Given the description of an element on the screen output the (x, y) to click on. 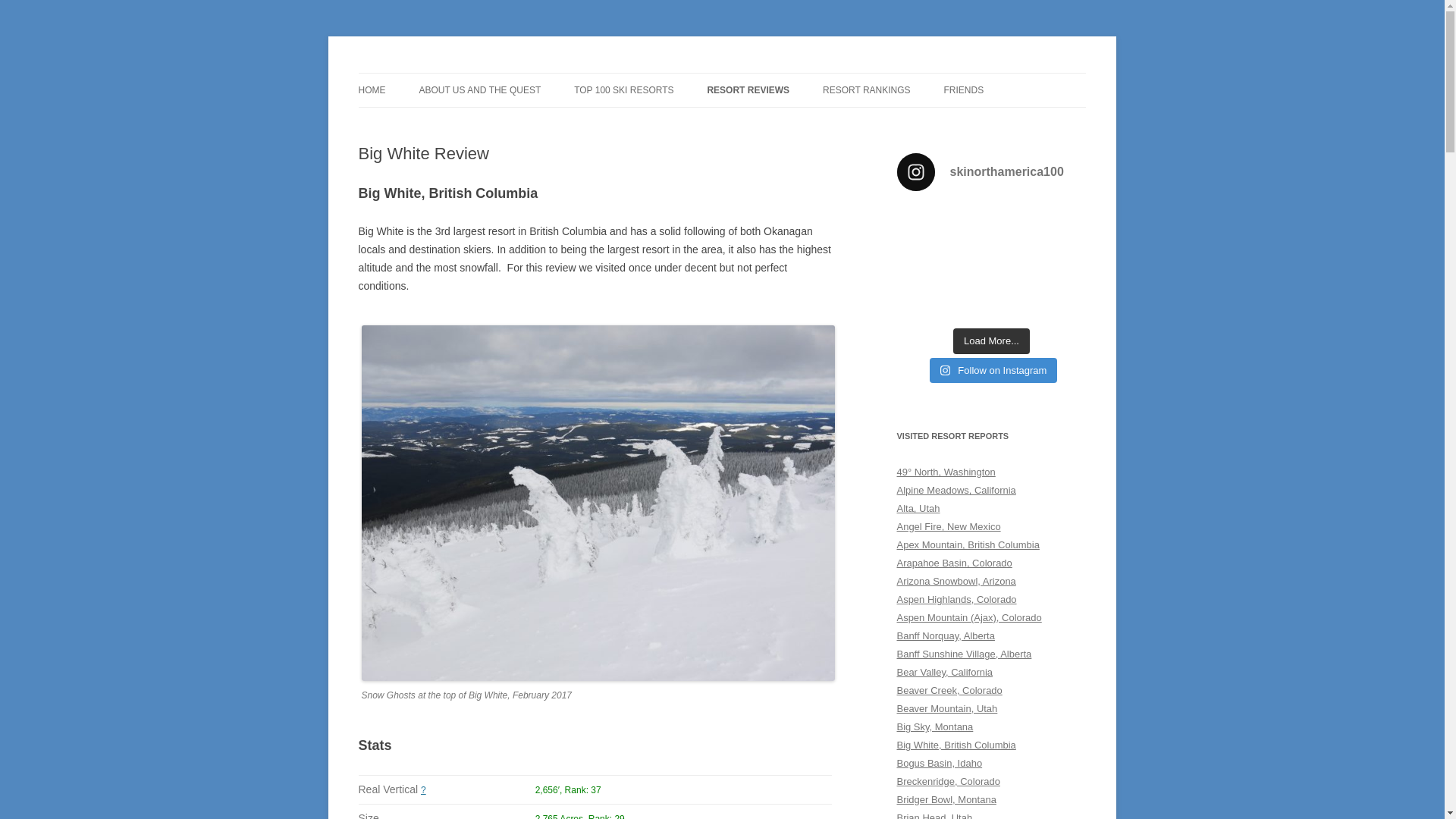
Ski North America's Top 100 Resorts (529, 72)
RESORT REVIEWS (747, 90)
ABOUT US AND THE QUEST (479, 90)
TOP 100 SKI RESORTS (622, 90)
